Given the description of an element on the screen output the (x, y) to click on. 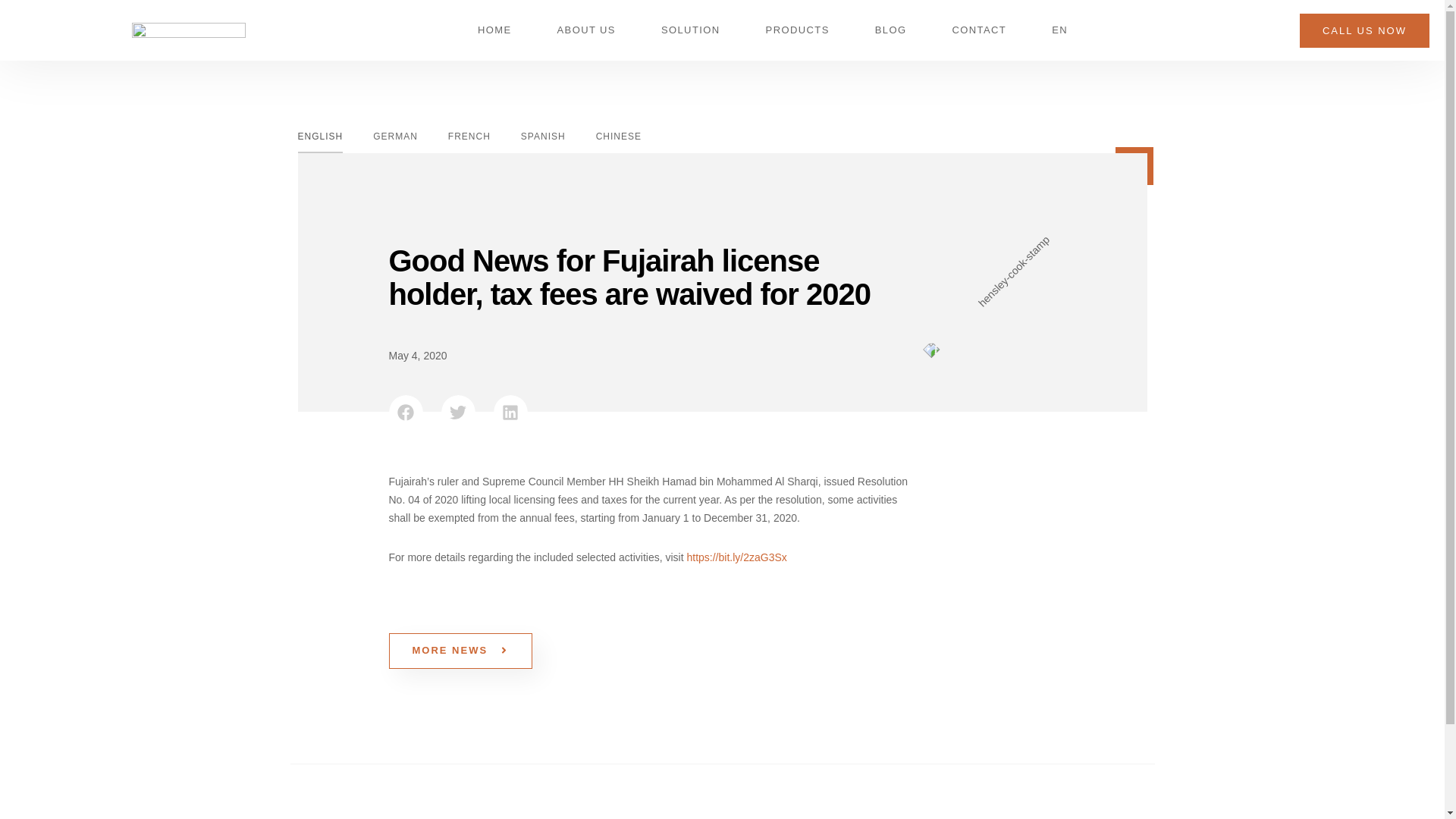
PRODUCTS (797, 30)
ABOUT US (585, 30)
CONTACT (979, 30)
SOLUTION (690, 30)
